Given the description of an element on the screen output the (x, y) to click on. 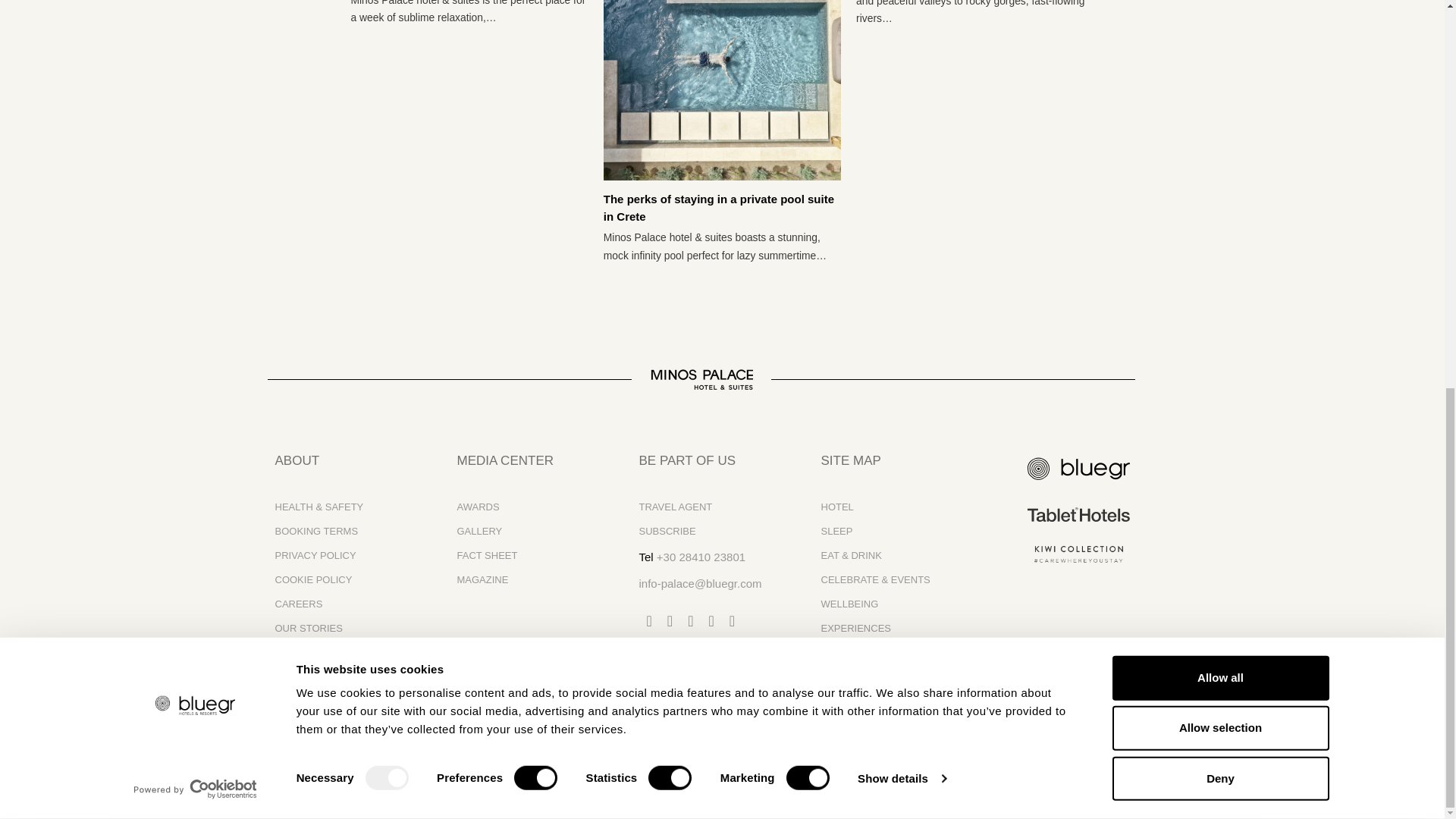
Show details (900, 42)
